Given the description of an element on the screen output the (x, y) to click on. 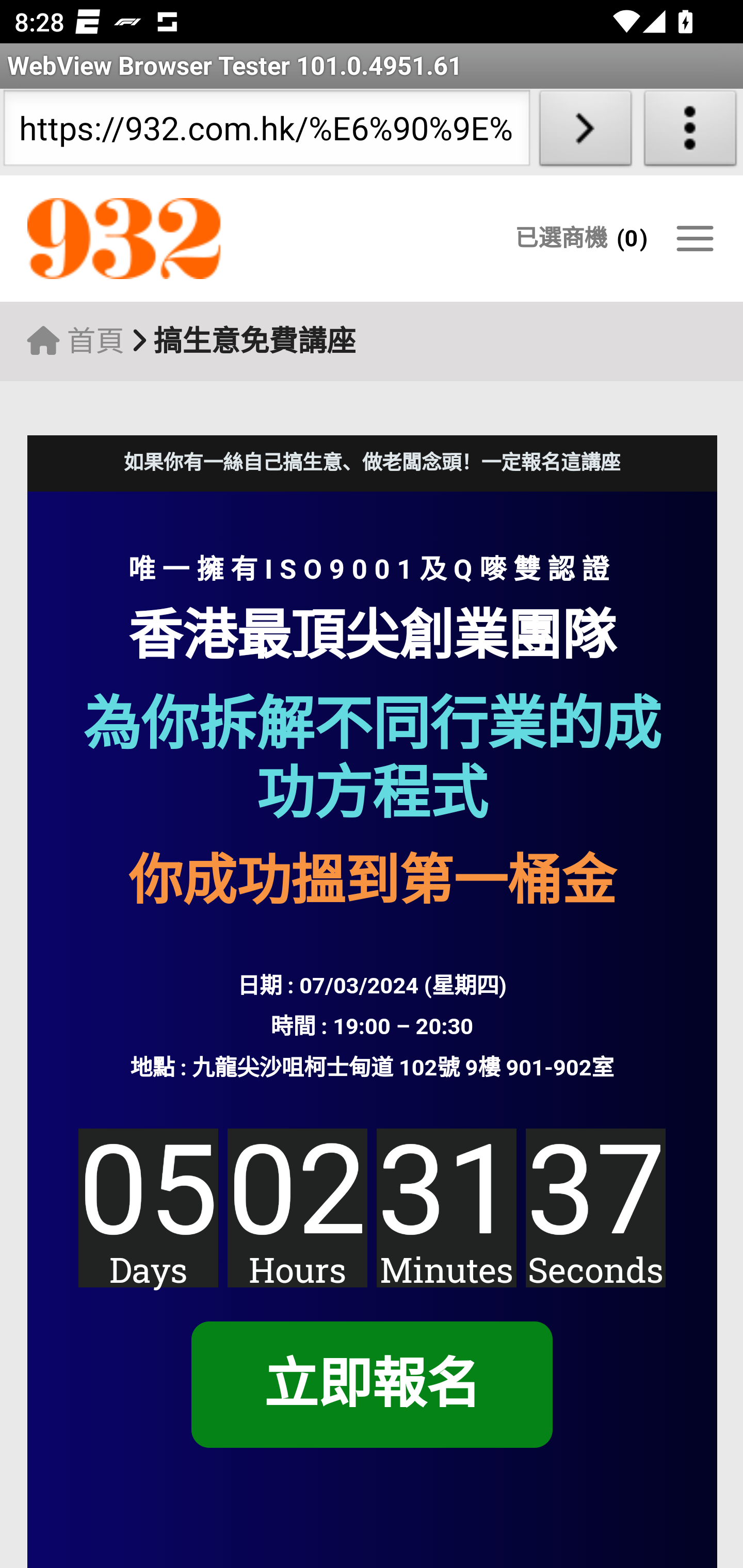
Load URL (585, 132)
About WebView (690, 132)
已選商機 ( 0 ) 已選商機 ( 0 ) (580, 237)
Menu  (694, 237)
932香港生意轉讓平台 (207, 238)
 首頁   首頁 (75, 341)
立即報名 (370, 1385)
